Given the description of an element on the screen output the (x, y) to click on. 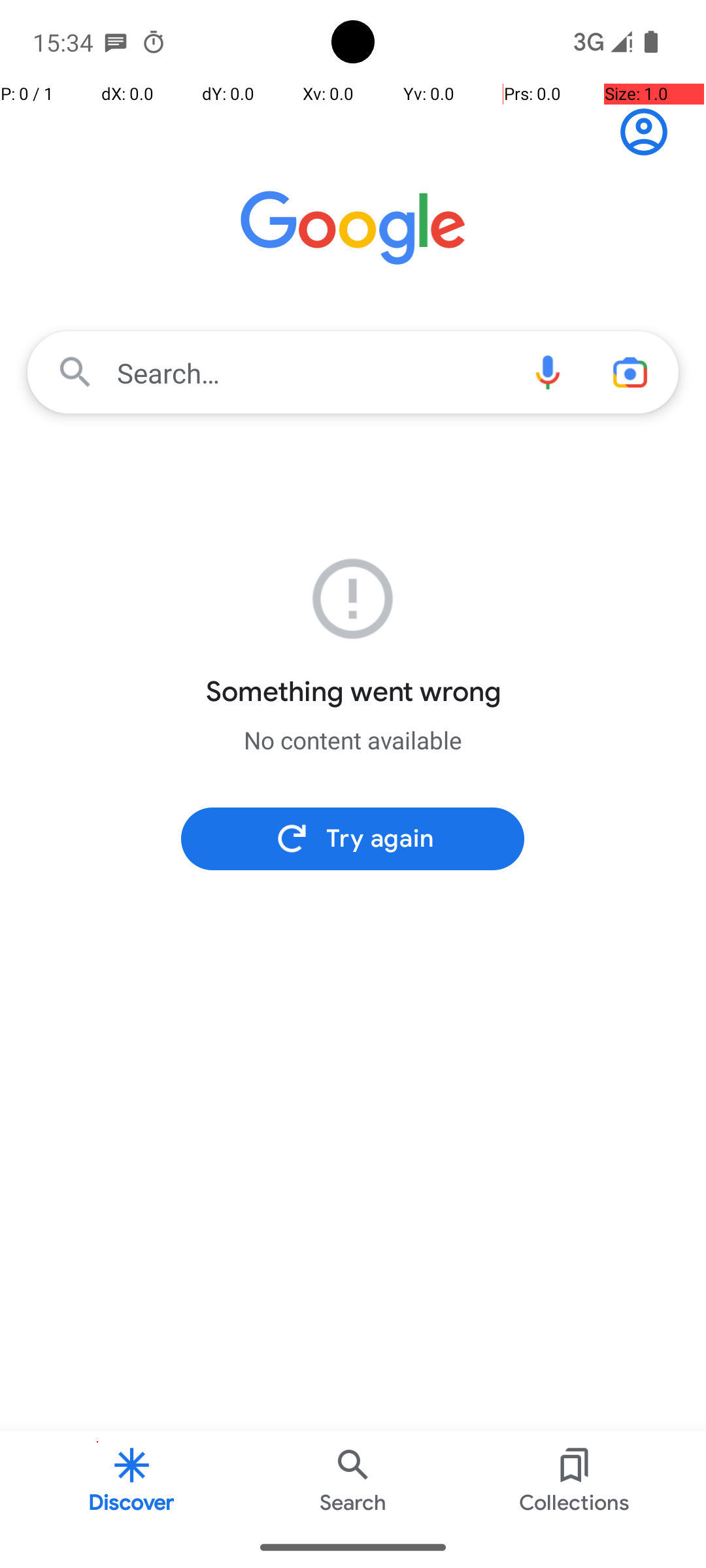
Something went wrong Element type: android.widget.TextView (352, 691)
No content available Element type: android.widget.TextView (352, 739)
